Given the description of an element on the screen output the (x, y) to click on. 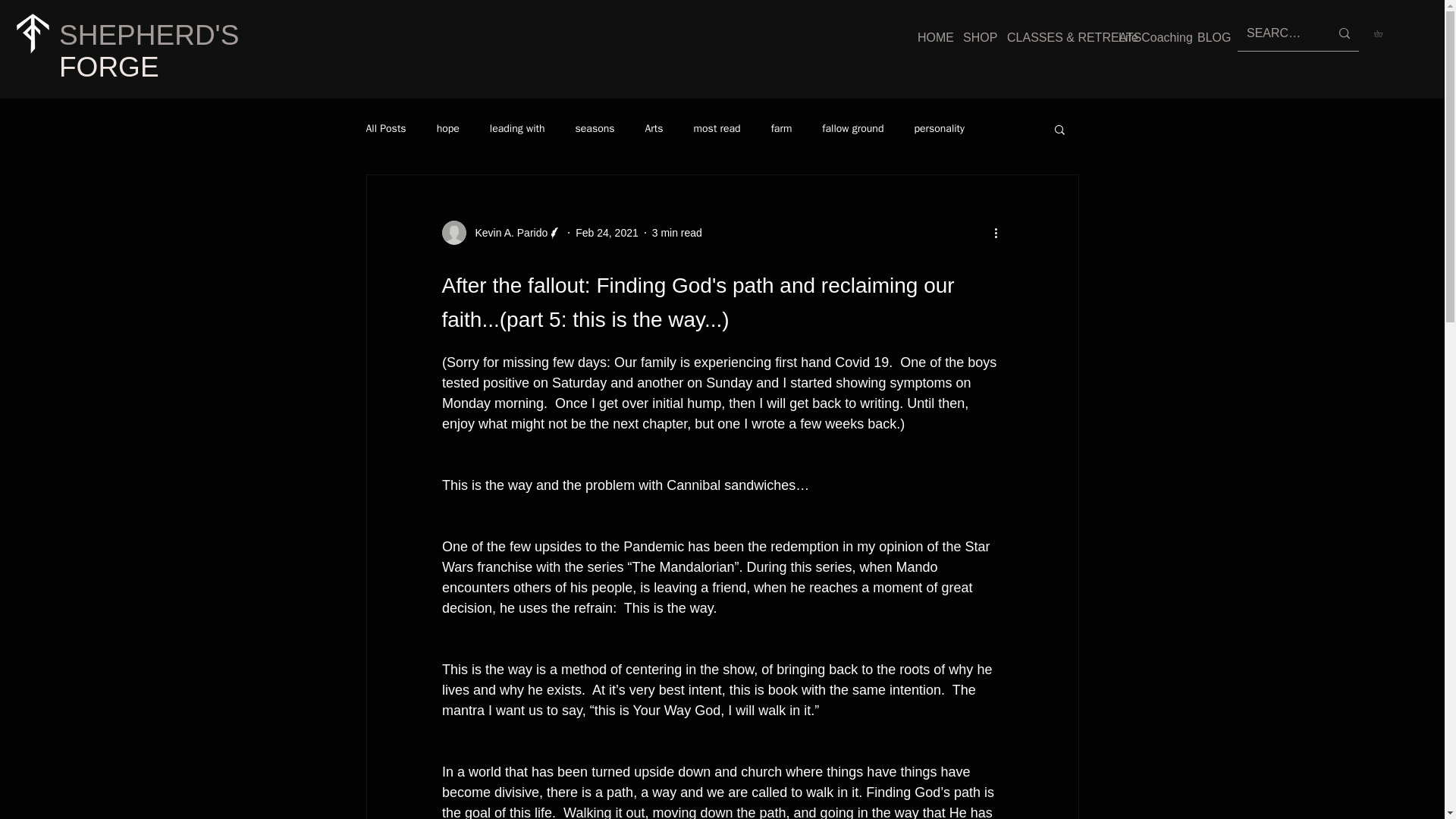
SHEPHERD'SFORGE (148, 50)
Feb 24, 2021 (607, 232)
Arts (654, 128)
3 min read (676, 232)
leading with (516, 128)
seasons (594, 128)
most read (717, 128)
fallow ground (852, 128)
Life Coaching (1146, 37)
farm (781, 128)
Kevin A. Parido (506, 232)
All Posts (385, 128)
personality (938, 128)
hope (448, 128)
